Given the description of an element on the screen output the (x, y) to click on. 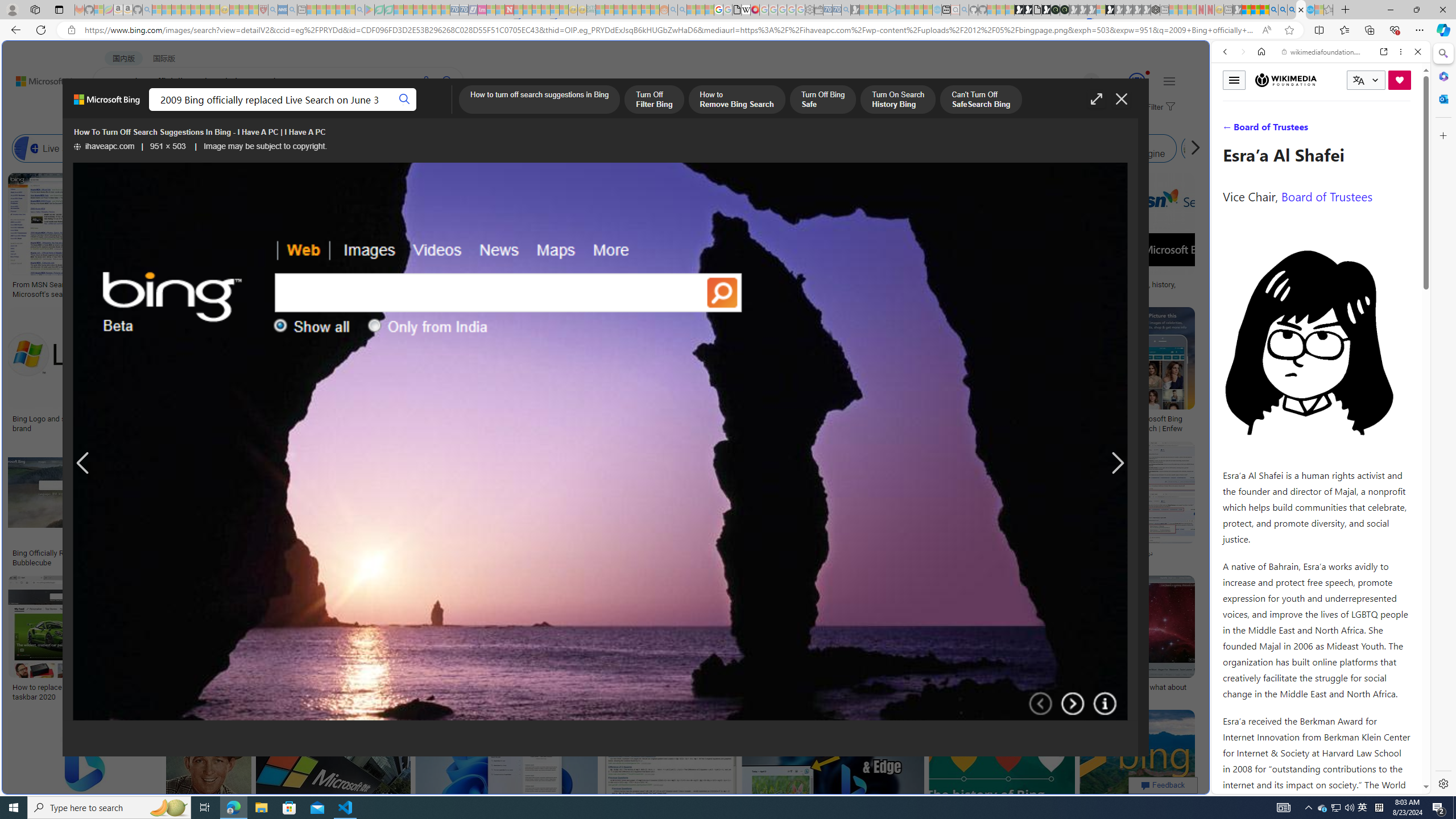
Microsoft Live Logo (339, 284)
DICT (407, 111)
